Given the description of an element on the screen output the (x, y) to click on. 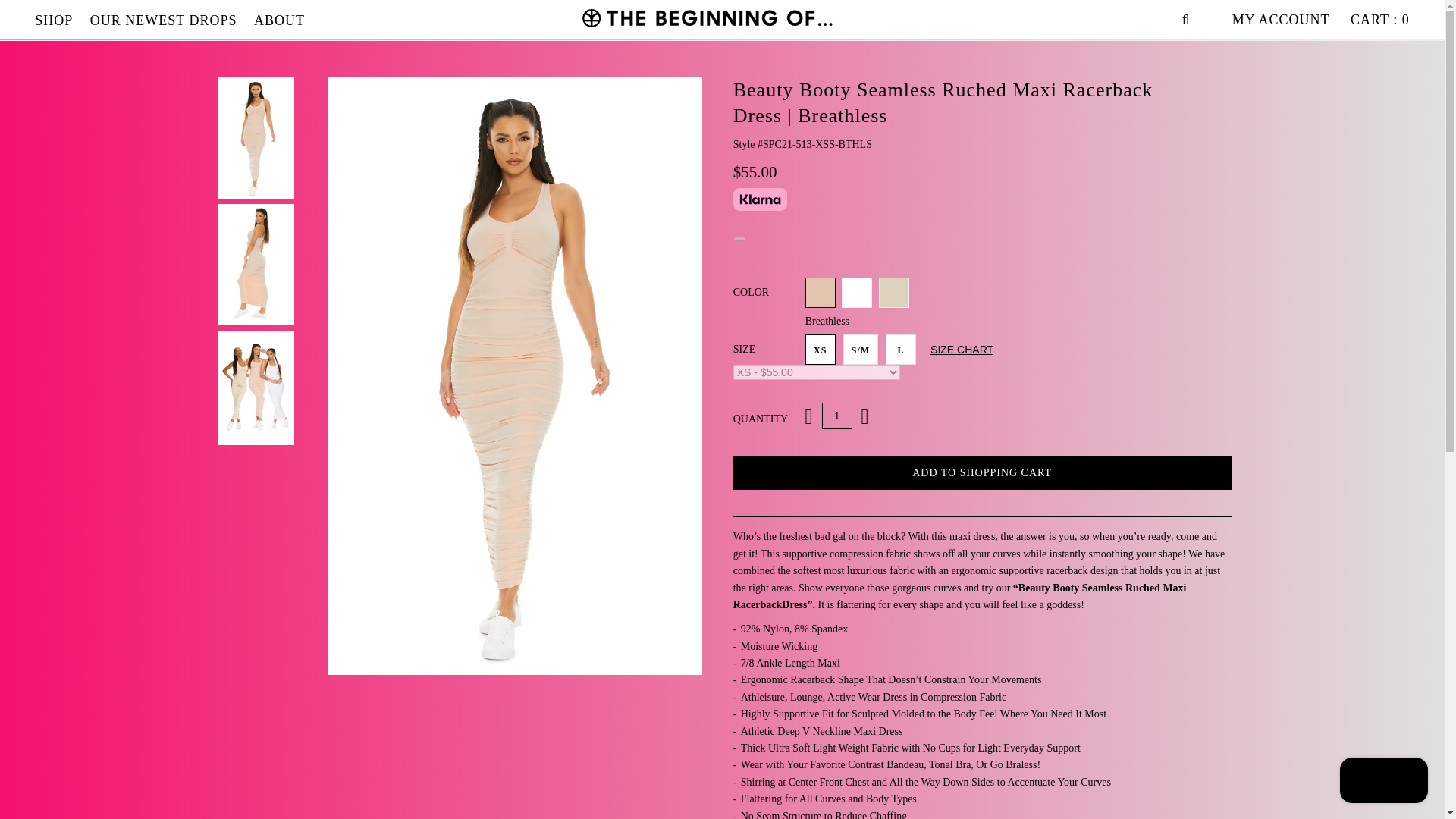
OUR NEWEST DROPS (163, 20)
SIZE CHART (961, 349)
CART : 0 (1380, 19)
SHOP (53, 20)
MY ACCOUNT (1281, 19)
ABOUT (279, 20)
Add to shopping cart (982, 472)
Add to shopping cart (982, 472)
1 (836, 415)
